Given the description of an element on the screen output the (x, y) to click on. 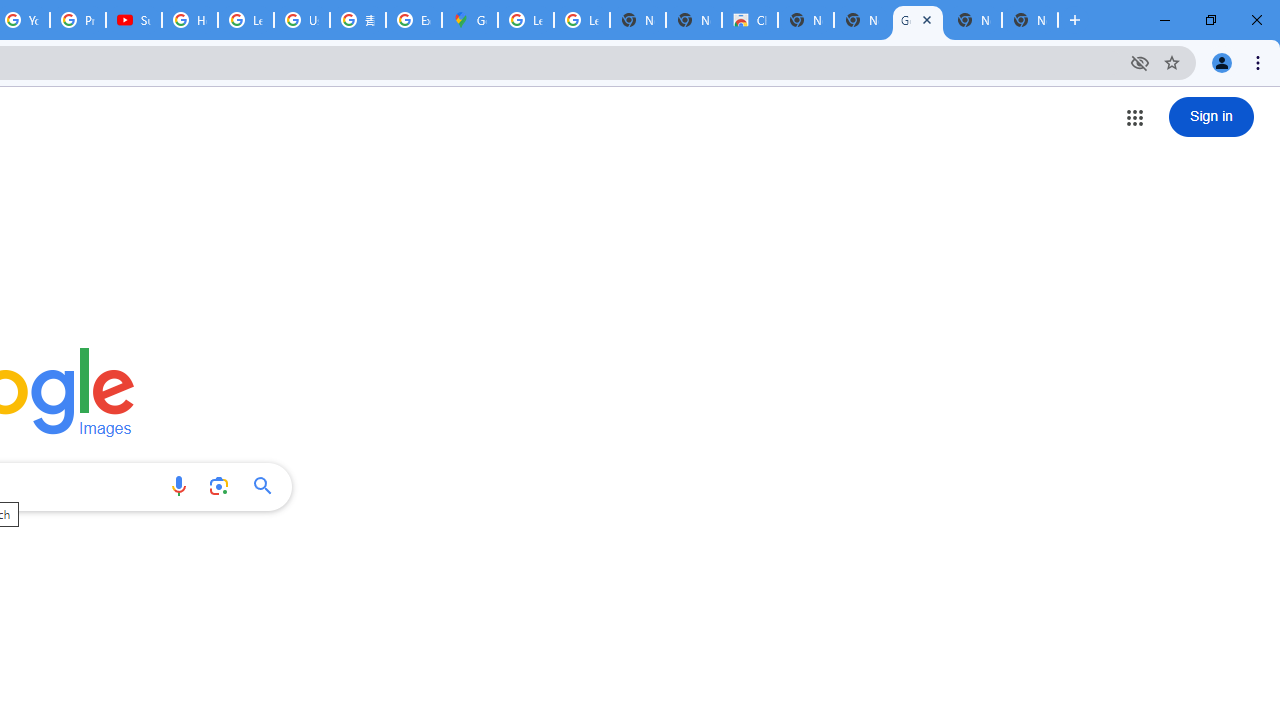
Third-party cookies blocked (1139, 62)
Search by voice (178, 485)
Search by image (218, 485)
Google Maps (469, 20)
New Tab (1030, 20)
Google Search (268, 485)
Subscriptions - YouTube (134, 20)
